Given the description of an element on the screen output the (x, y) to click on. 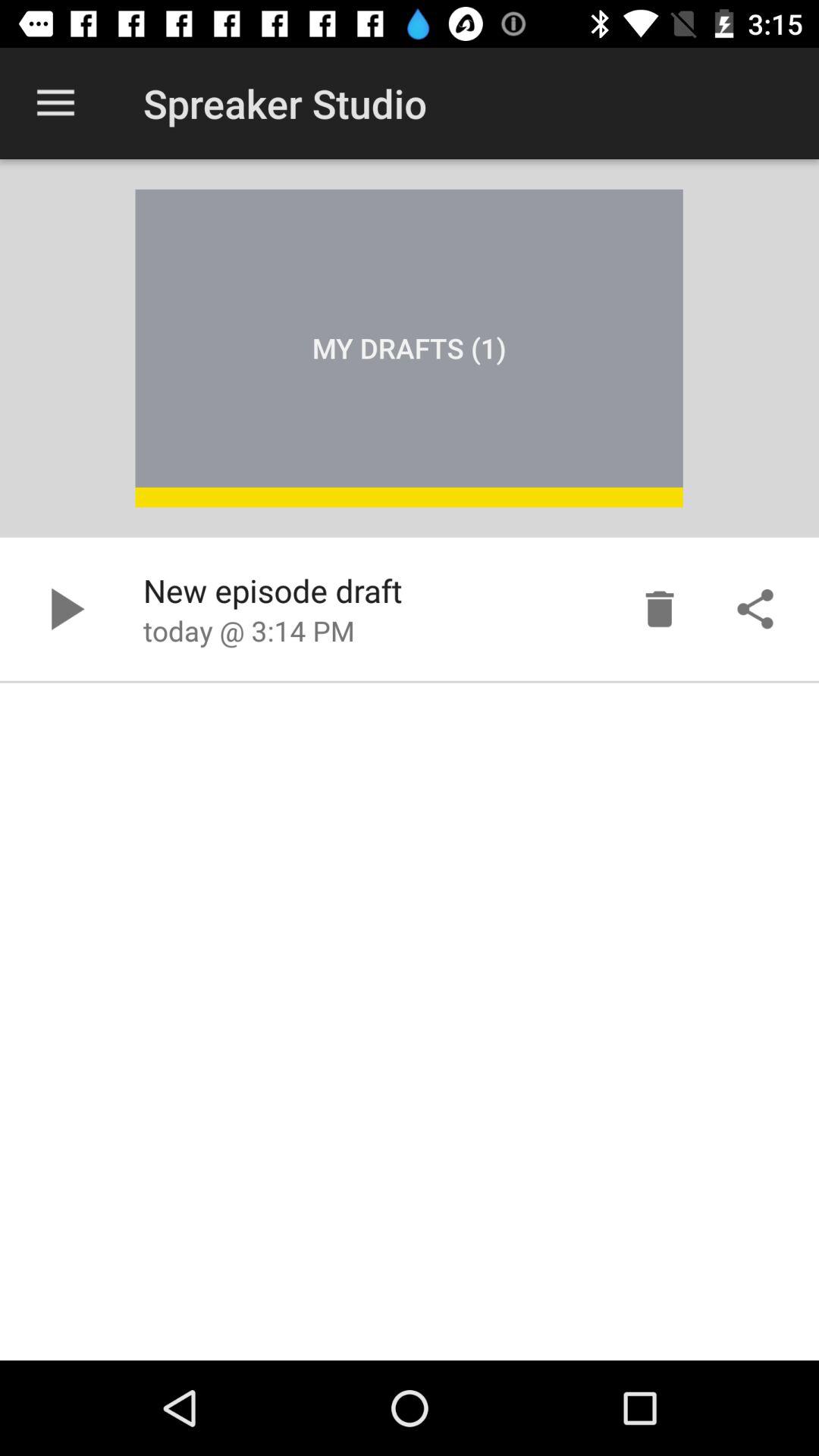
play podcast (63, 608)
